Given the description of an element on the screen output the (x, y) to click on. 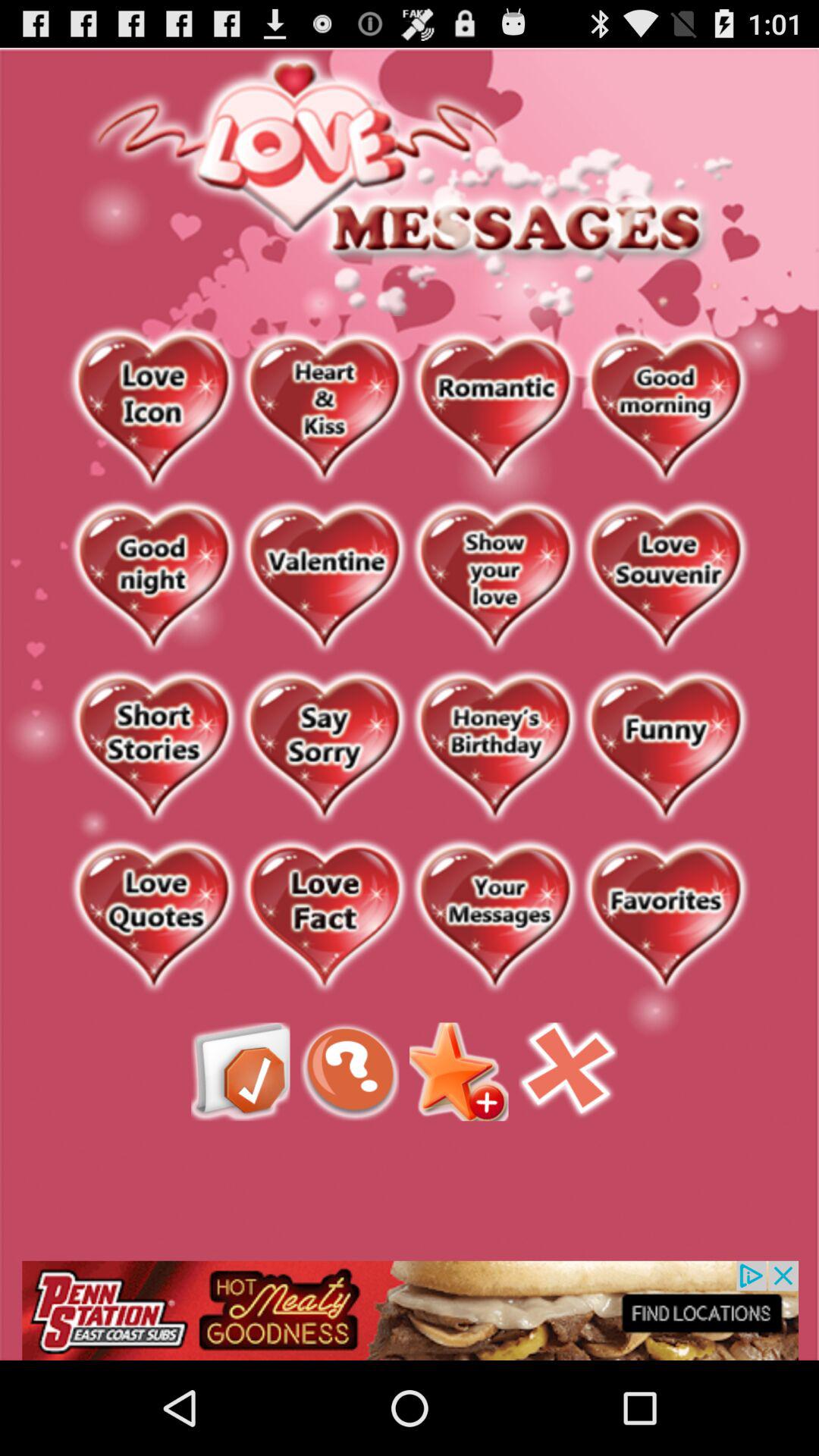
exit (567, 1071)
